Given the description of an element on the screen output the (x, y) to click on. 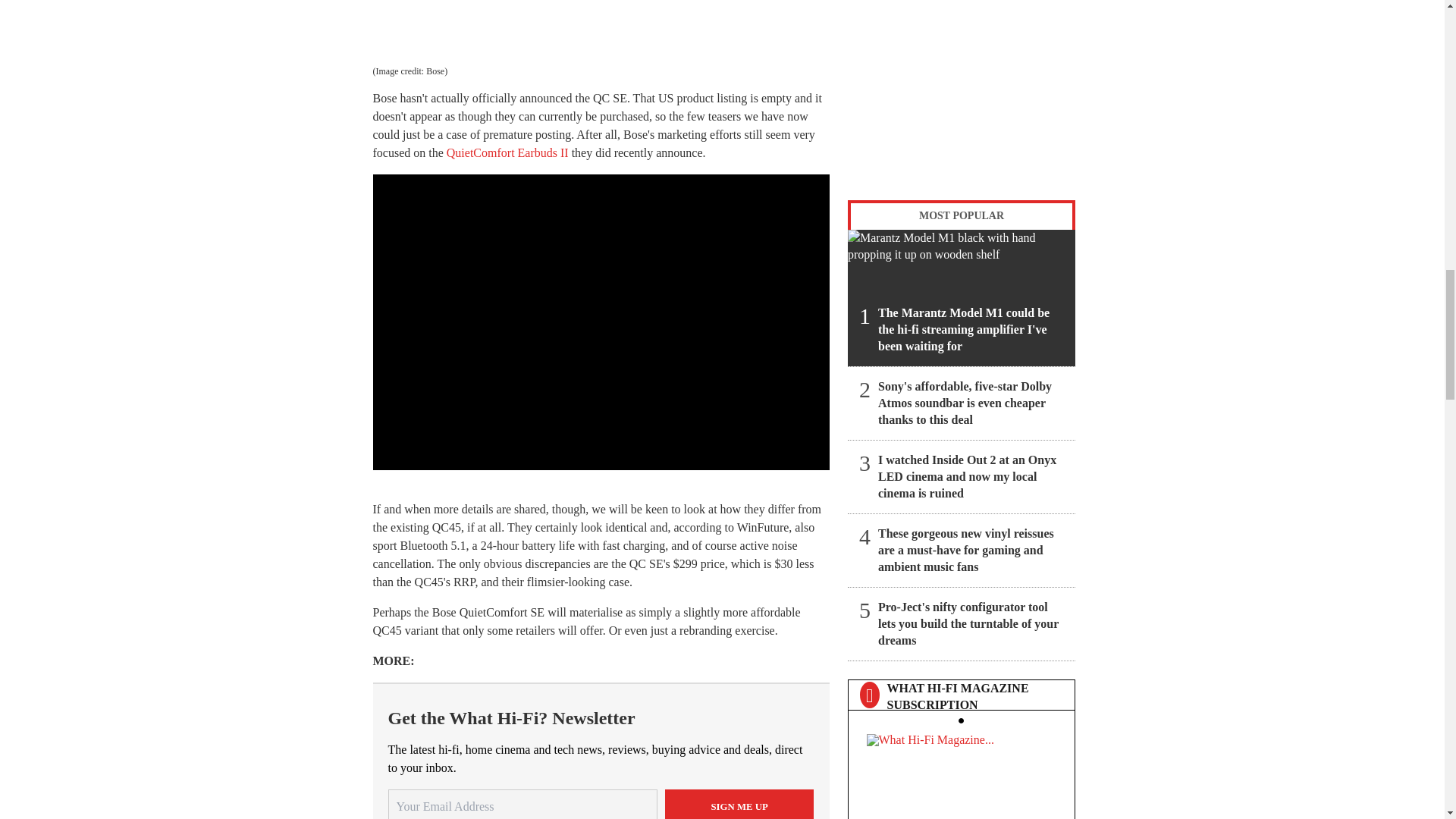
What Hi-Fi Magazine... (960, 772)
Sign me up (739, 804)
